Given the description of an element on the screen output the (x, y) to click on. 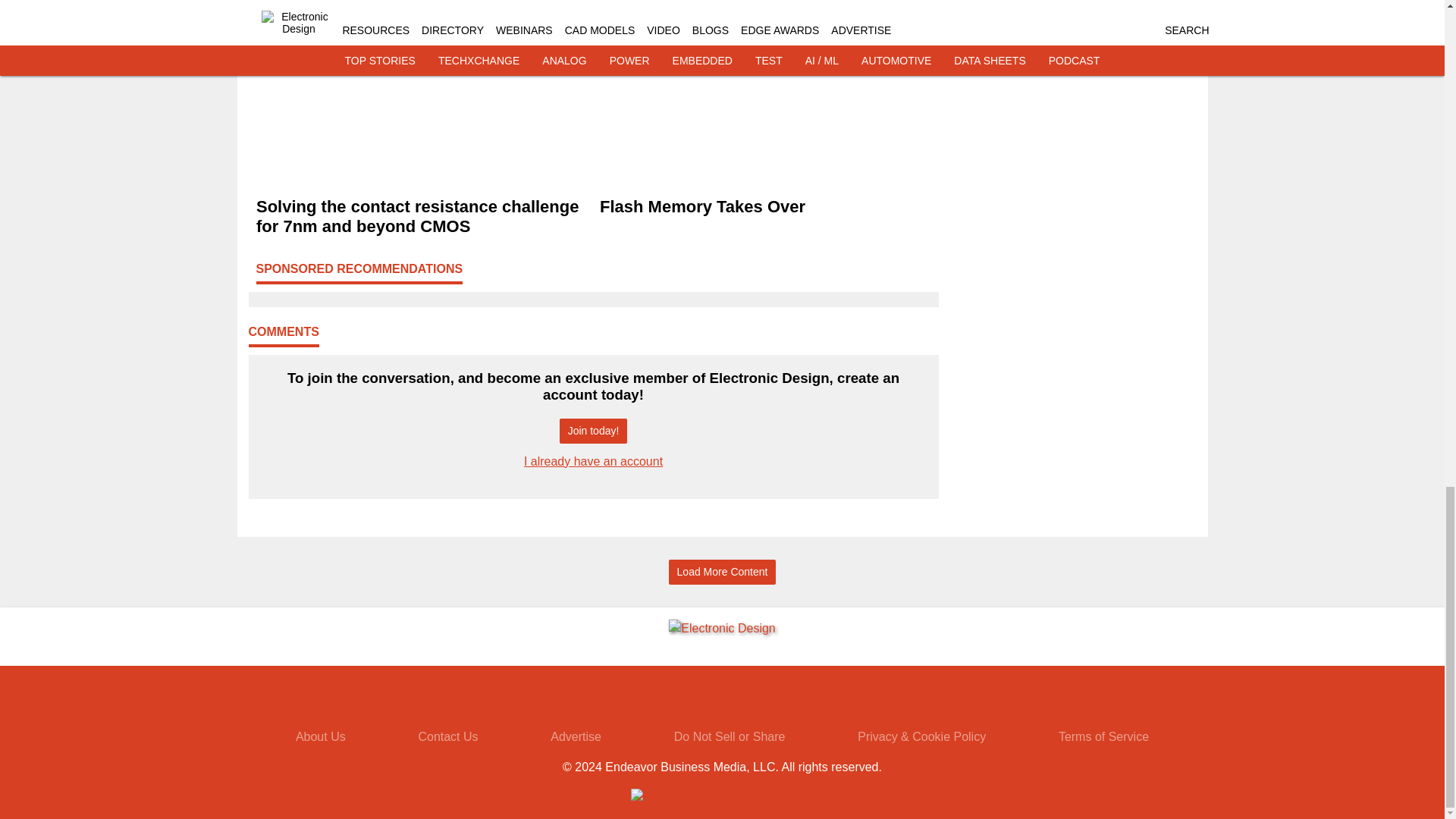
Join today! (593, 430)
Flash Memory Takes Over (764, 207)
I already have an account (593, 461)
